Given the description of an element on the screen output the (x, y) to click on. 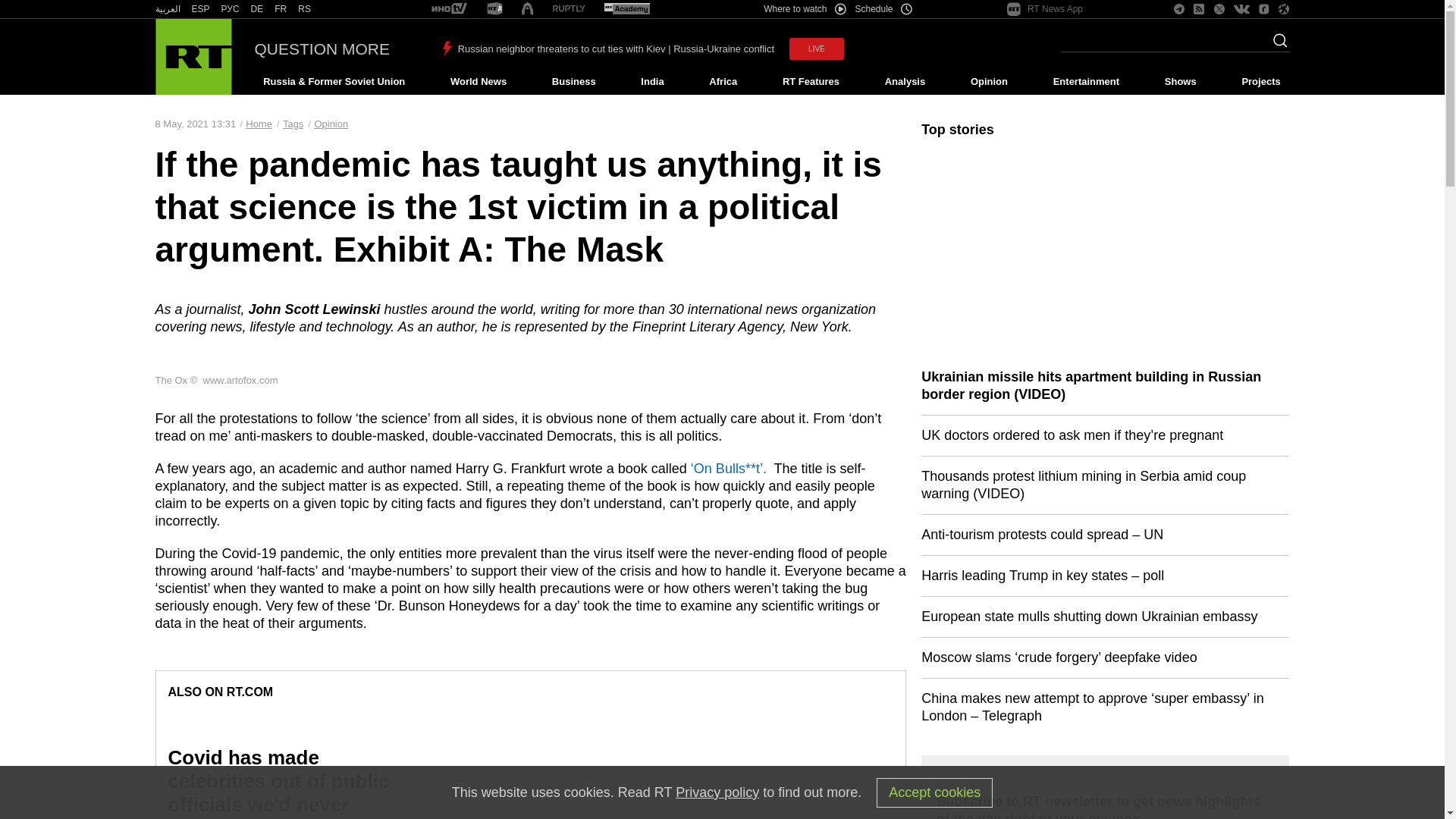
Search (1276, 44)
RS (304, 9)
RT  (626, 9)
RT  (280, 9)
World News (478, 81)
DE (256, 9)
RT  (230, 9)
Analysis (905, 81)
RT  (256, 9)
RT  (569, 8)
